Given the description of an element on the screen output the (x, y) to click on. 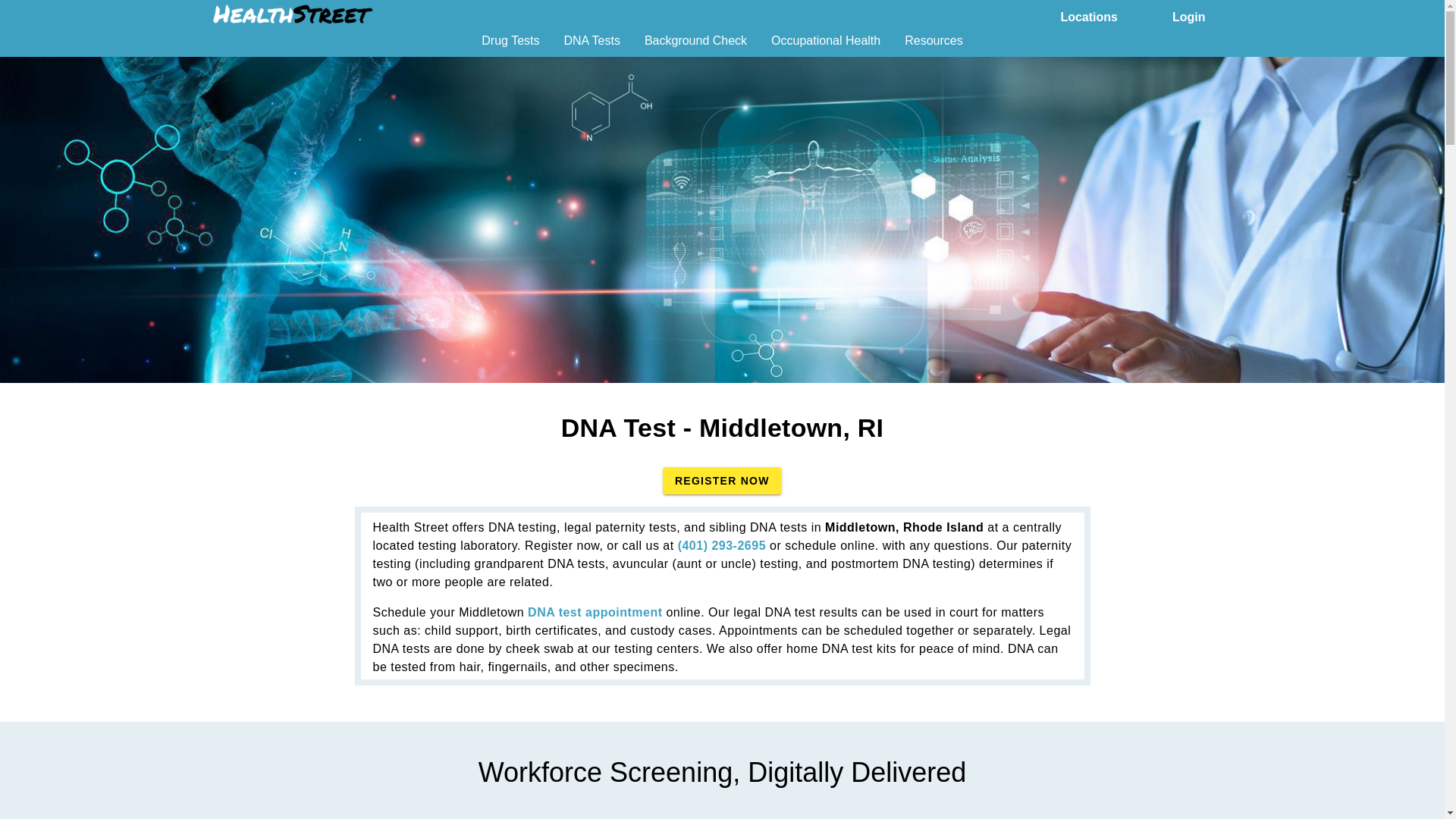
HEALTH STREET (292, 14)
Drug Tests (509, 46)
Locations (1088, 15)
Register for a DNA Test in  Middletown, Rhode Island (721, 480)
Login (1189, 15)
Schedule your DNA test appointment (594, 612)
DNA Tests (592, 46)
Occupational Health (825, 46)
Background Check (695, 46)
